Given the description of an element on the screen output the (x, y) to click on. 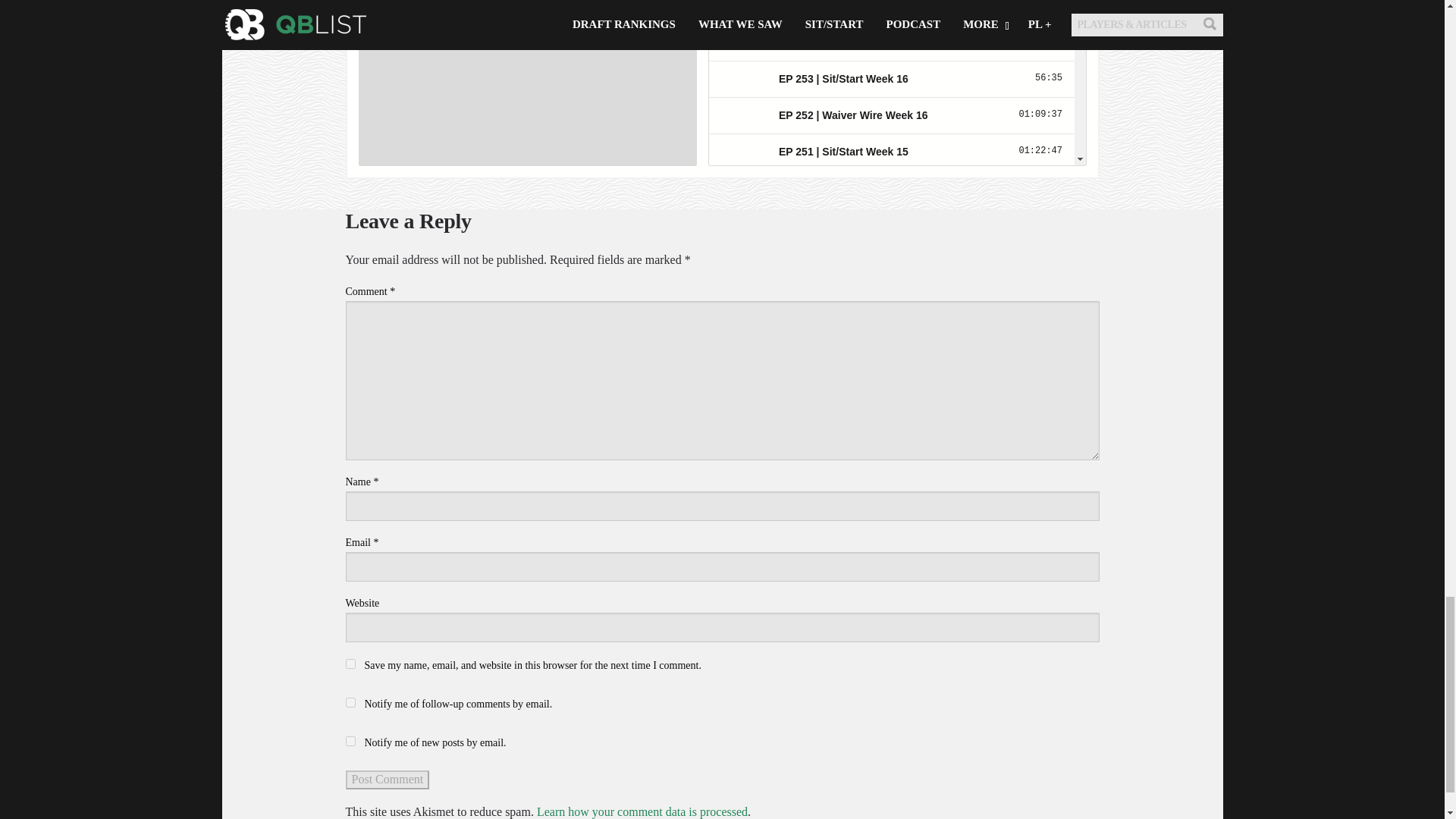
Post Comment (387, 779)
subscribe (350, 741)
subscribe (350, 702)
yes (350, 664)
